Given the description of an element on the screen output the (x, y) to click on. 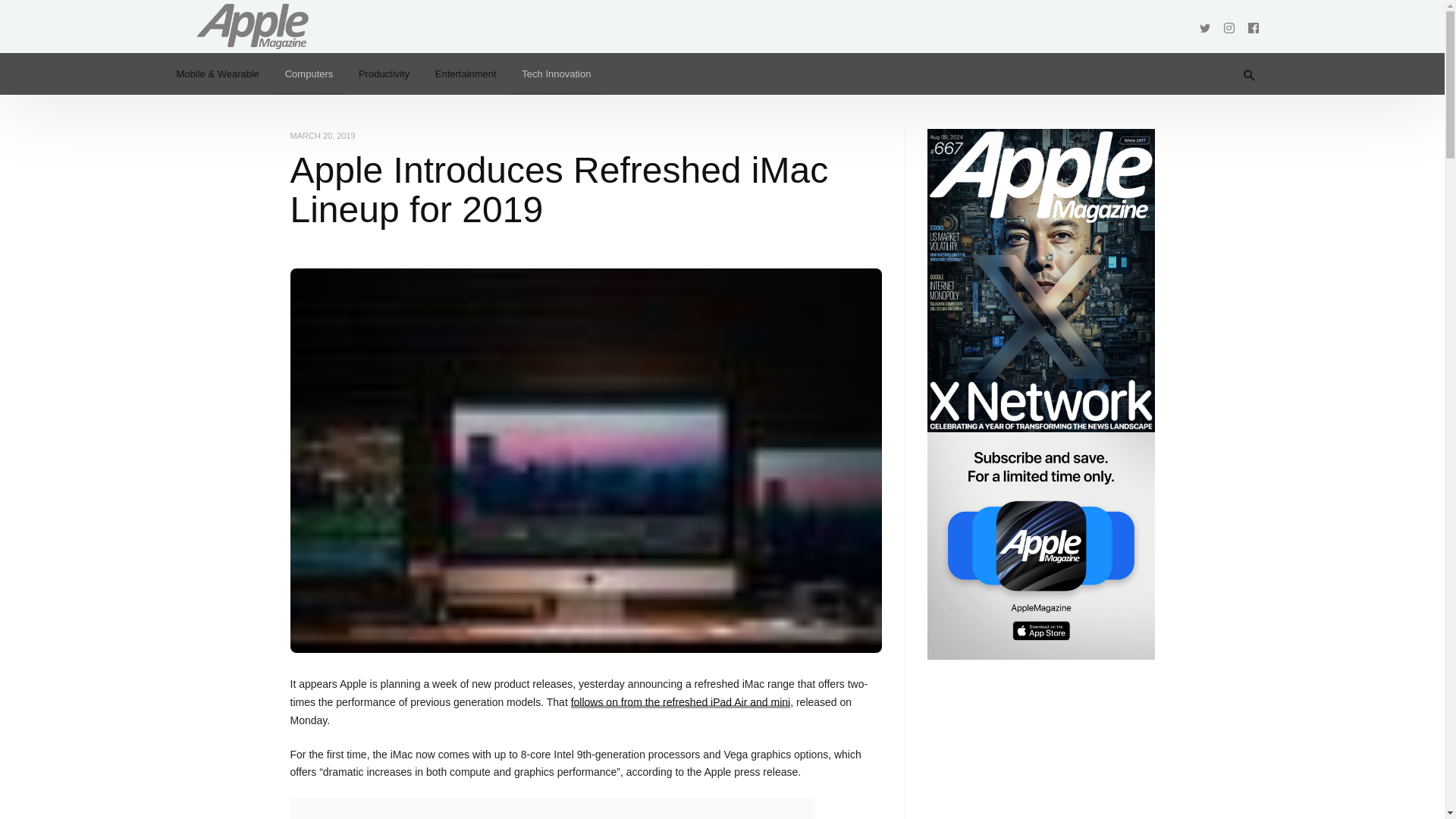
follows on from the refreshed iPad Air and mini (680, 702)
Tech Innovation (556, 74)
Computers (309, 74)
Productivity (383, 74)
Entertainment (465, 74)
Instagram (1228, 26)
Facebook (1252, 26)
Twitter (1203, 26)
